Given the description of an element on the screen output the (x, y) to click on. 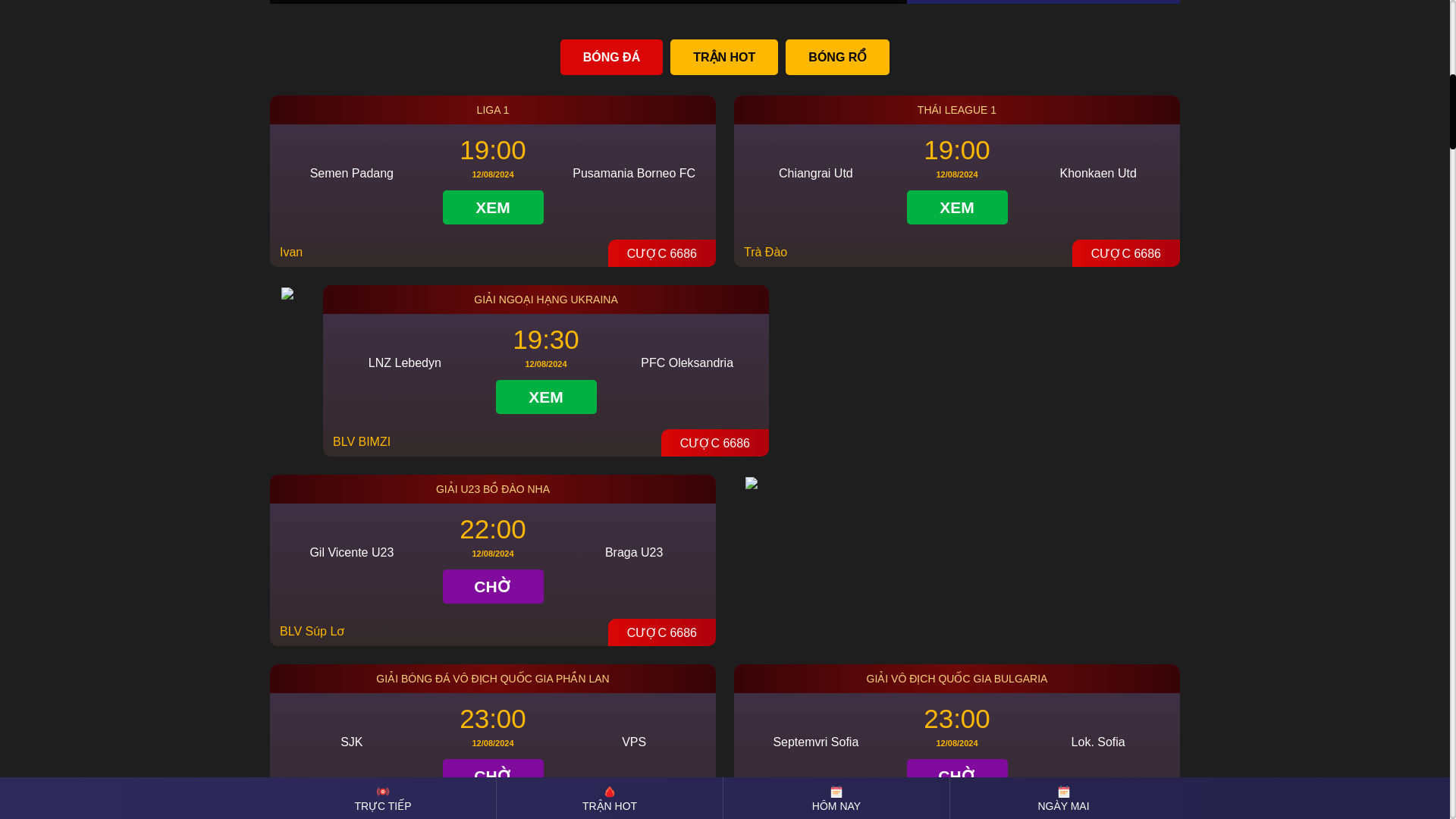
XEM (957, 207)
XEM (492, 207)
Ivan (290, 251)
